Given the description of an element on the screen output the (x, y) to click on. 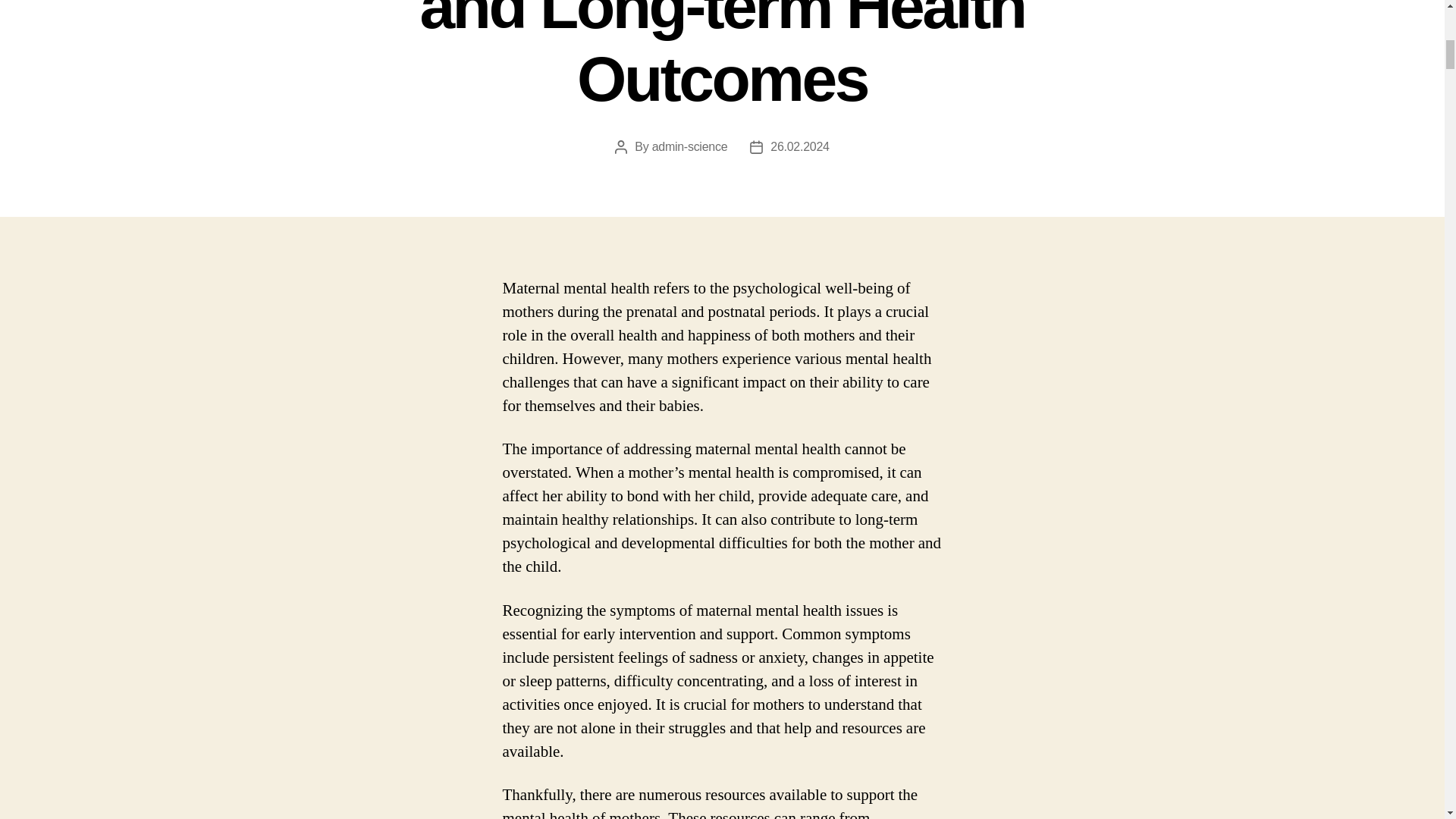
26.02.2024 (799, 146)
admin-science (690, 146)
